Given the description of an element on the screen output the (x, y) to click on. 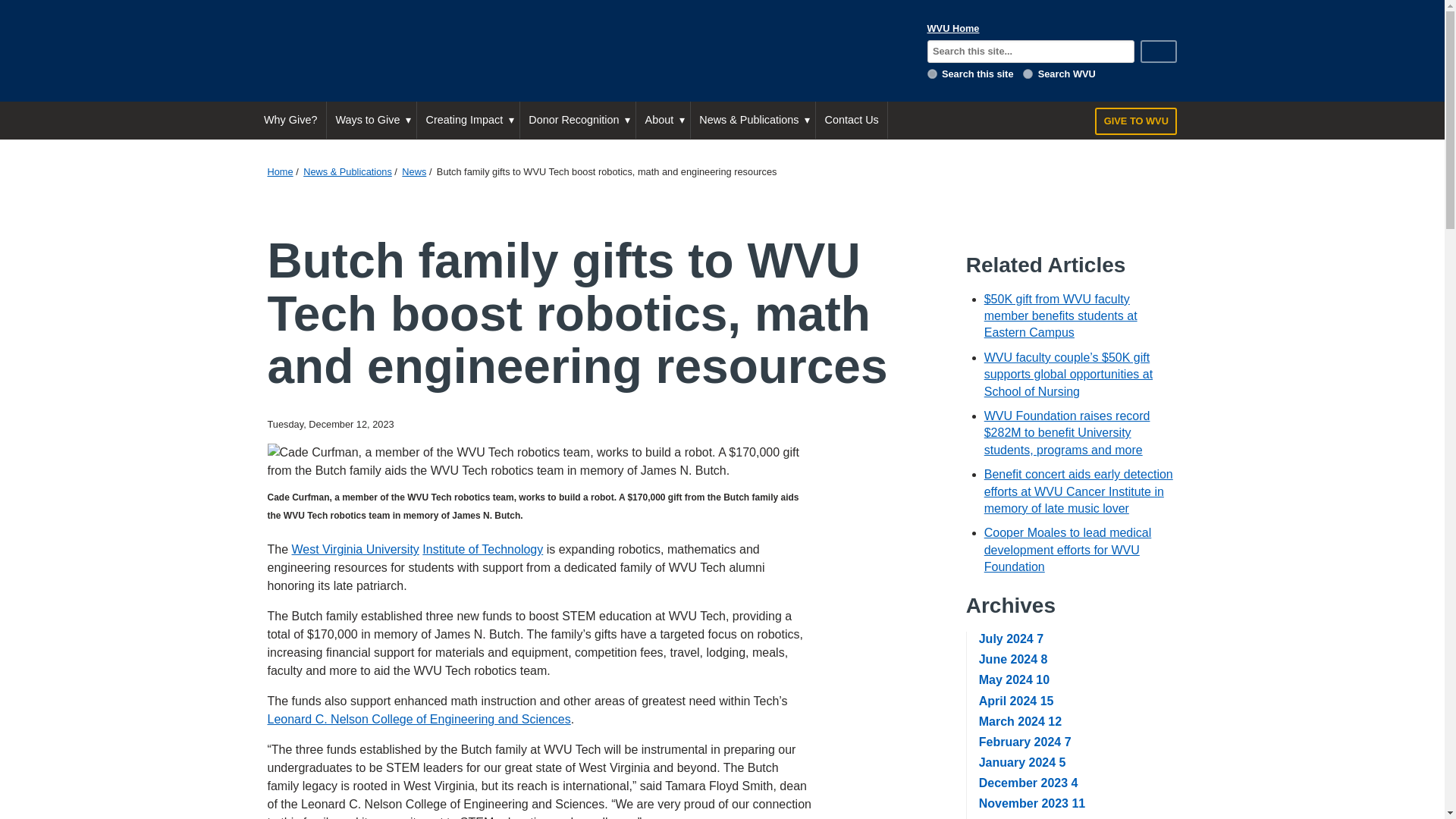
Search (1158, 51)
wvu.edu (1027, 73)
Creating Impact (467, 119)
Ways to Give (371, 119)
Why Give? (289, 119)
Search (1158, 51)
Search (1158, 51)
About (663, 119)
WVU Home (953, 28)
Donor Recognition (576, 119)
